Given the description of an element on the screen output the (x, y) to click on. 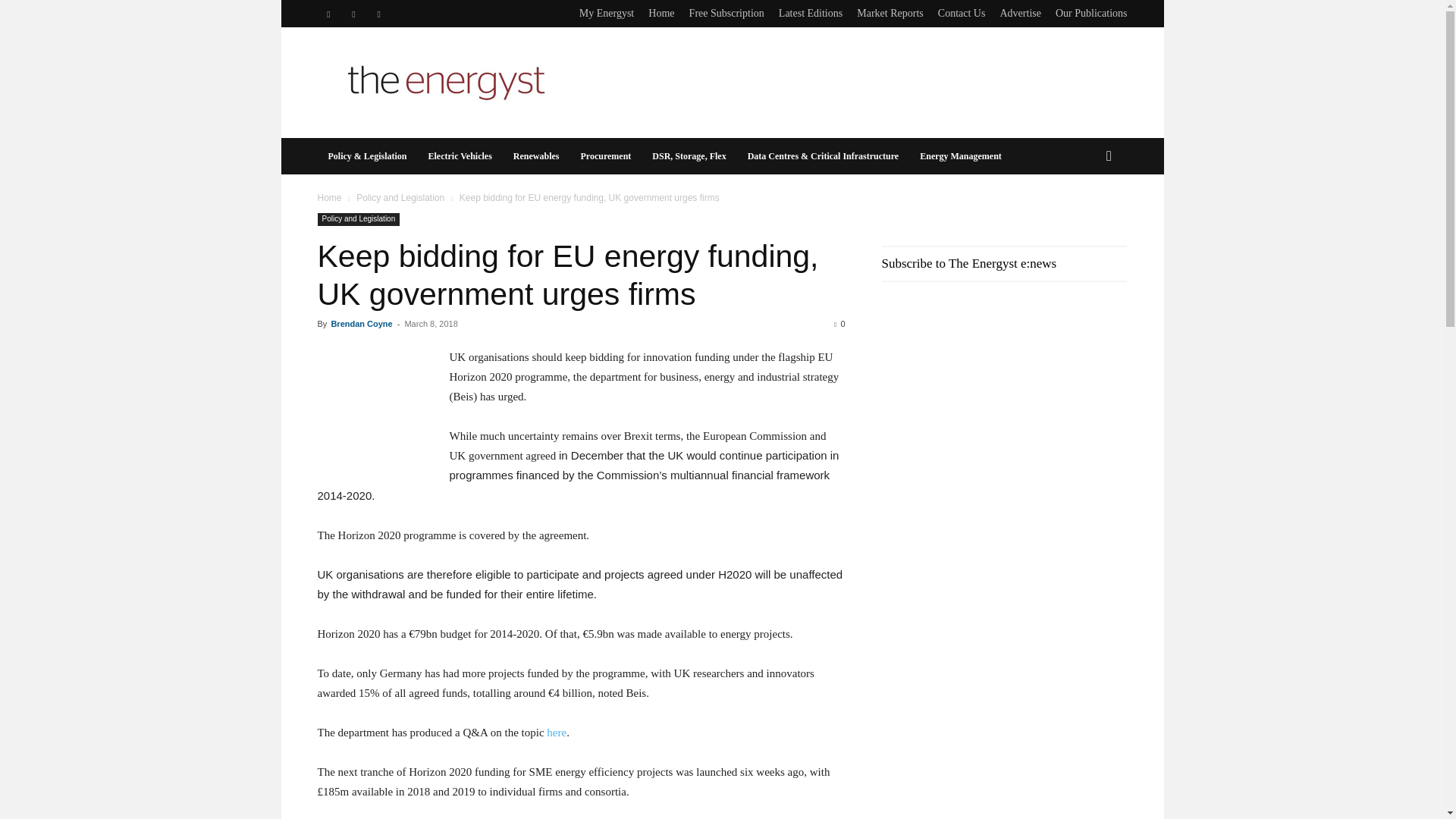
View all posts in Policy and Legislation (400, 197)
Free Subscription (726, 12)
Procurement (605, 156)
Market Reports (890, 12)
Contact Us (961, 12)
Energy Management (959, 156)
Our Publications (1090, 12)
Home (660, 12)
My Energyst (606, 12)
Latest Editions (810, 12)
